Given the description of an element on the screen output the (x, y) to click on. 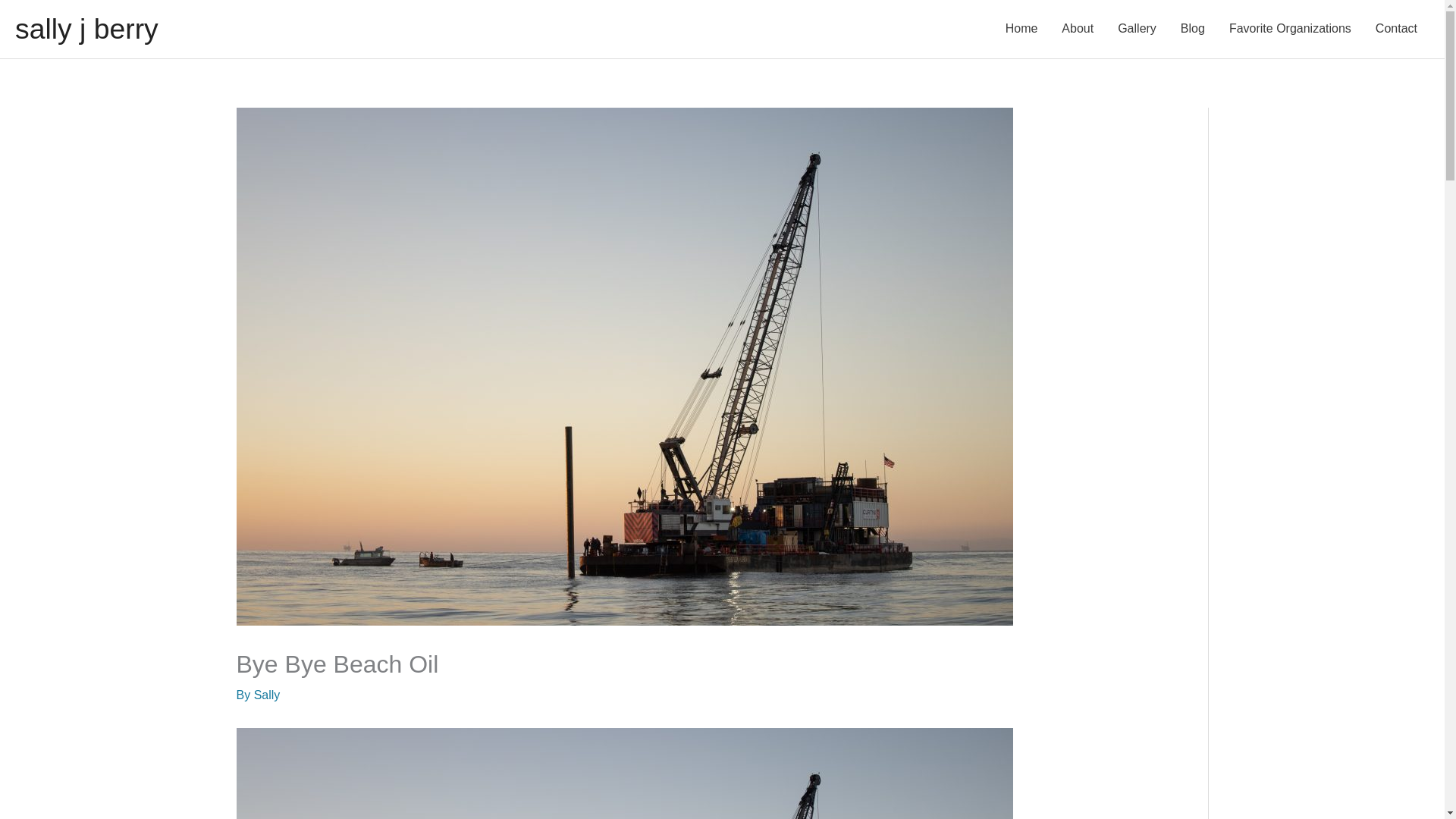
Favorite Organizations (1289, 29)
Contact (1395, 29)
About (1077, 29)
View all posts by Sally (267, 694)
Sally (267, 694)
Gallery (1137, 29)
sally j berry (86, 29)
Home (1020, 29)
